Given the description of an element on the screen output the (x, y) to click on. 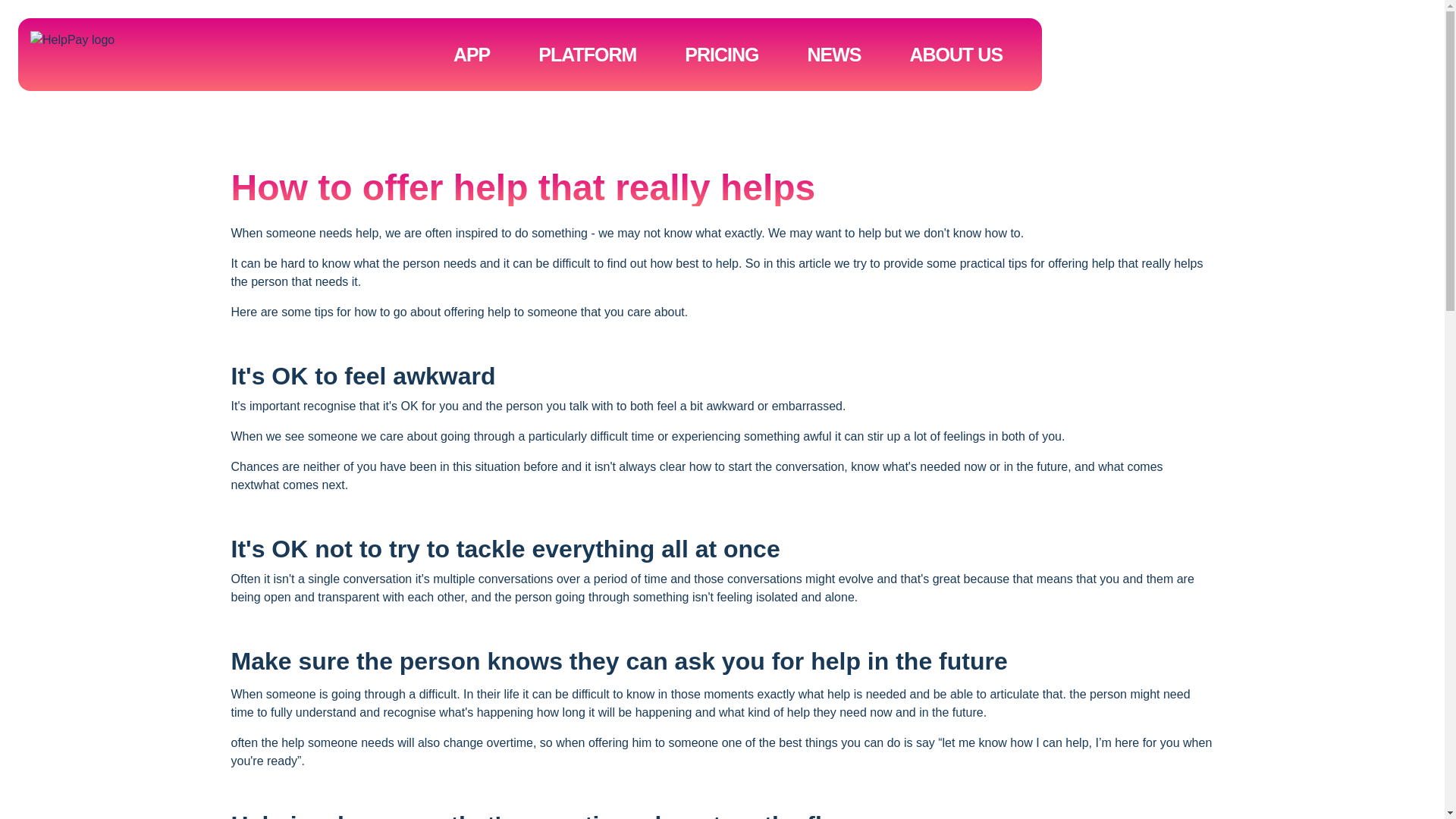
PLATFORM (587, 54)
NEWS (834, 54)
APP (471, 54)
ABOUT US (951, 54)
PRICING (722, 54)
